Given the description of an element on the screen output the (x, y) to click on. 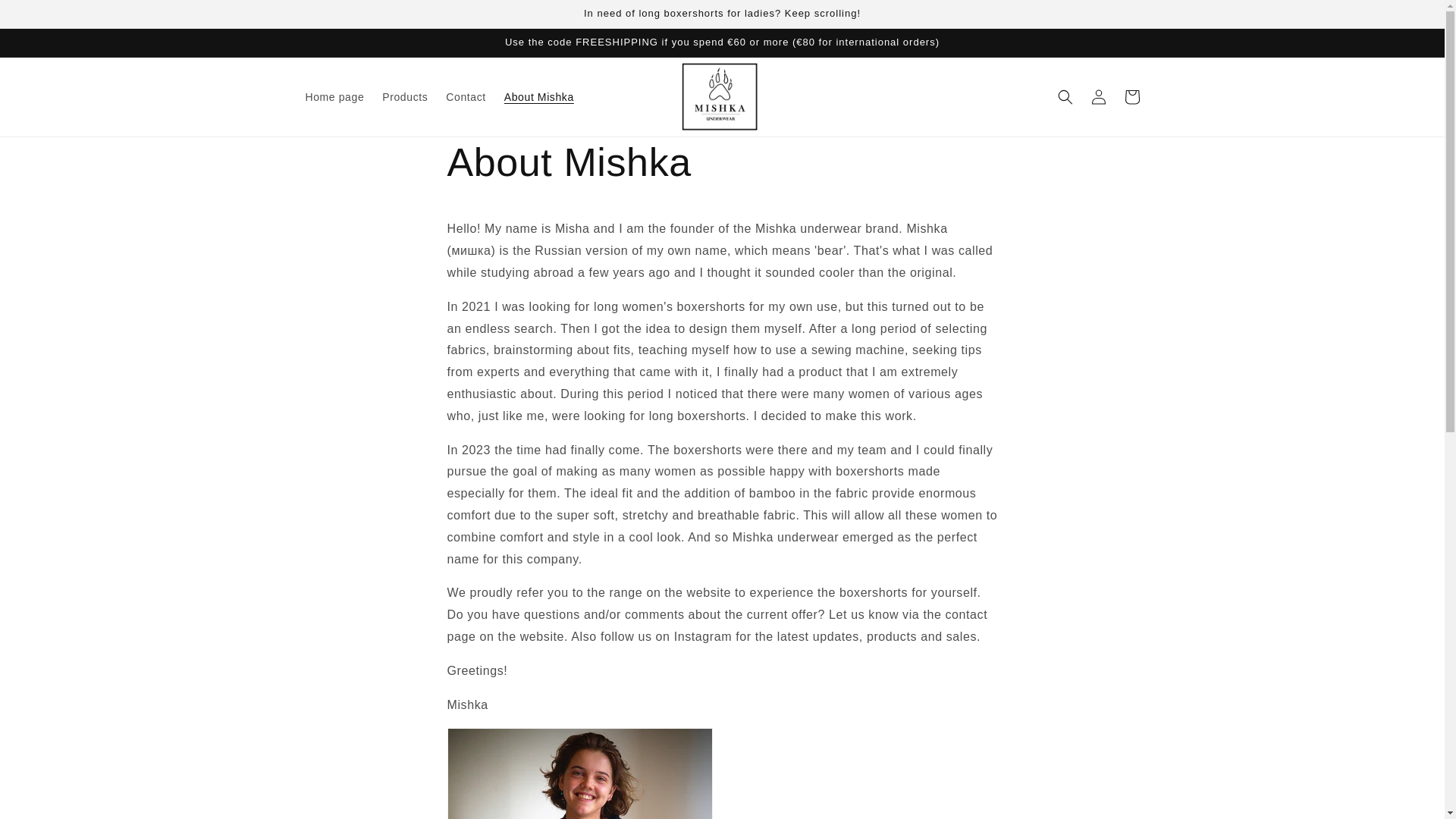
About Mishka (539, 97)
Skip to content (45, 17)
Cart (1131, 96)
Contact (465, 97)
Products (404, 97)
Log in (1098, 96)
Home page (333, 97)
